Given the description of an element on the screen output the (x, y) to click on. 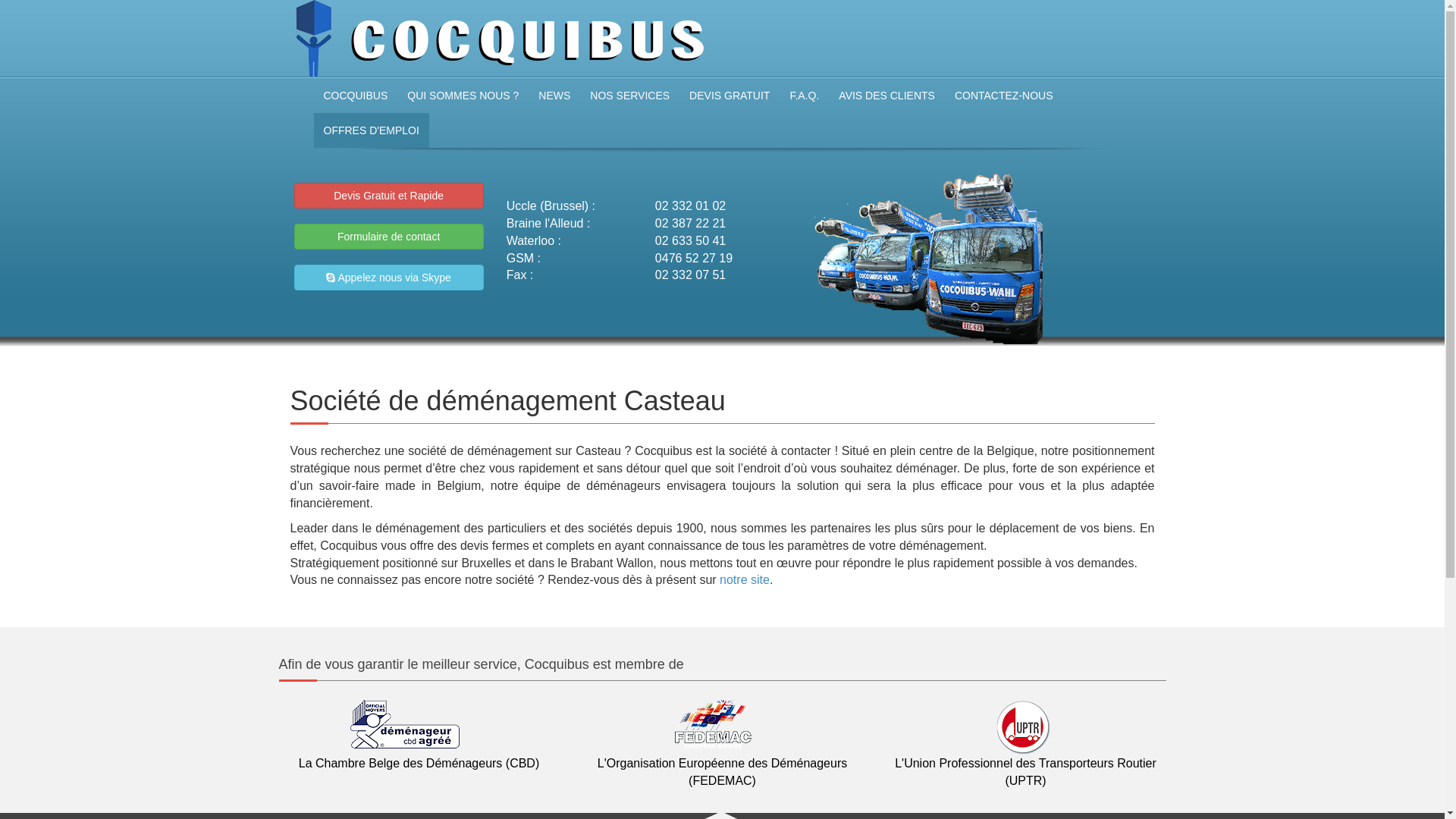
Formulaire de contact Element type: text (388, 236)
F.A.Q. Element type: text (803, 95)
NOS SERVICES Element type: text (629, 95)
OFFRES D'EMPLOI Element type: text (371, 129)
NEWS Element type: text (554, 95)
QUI SOMMES NOUS ? Element type: text (462, 95)
CONTACTEZ-NOUS Element type: text (1003, 95)
COCQUIBUS Element type: text (355, 95)
AVIS DES CLIENTS Element type: text (886, 95)
Appelez nous via Skype Element type: text (388, 277)
DEVIS GRATUIT Element type: text (729, 95)
notre site Element type: text (744, 579)
Devis Gratuit et Rapide Element type: text (388, 195)
L'Union Professionnel des Transporteurs Routier (UPTR) Element type: text (1025, 753)
